Given the description of an element on the screen output the (x, y) to click on. 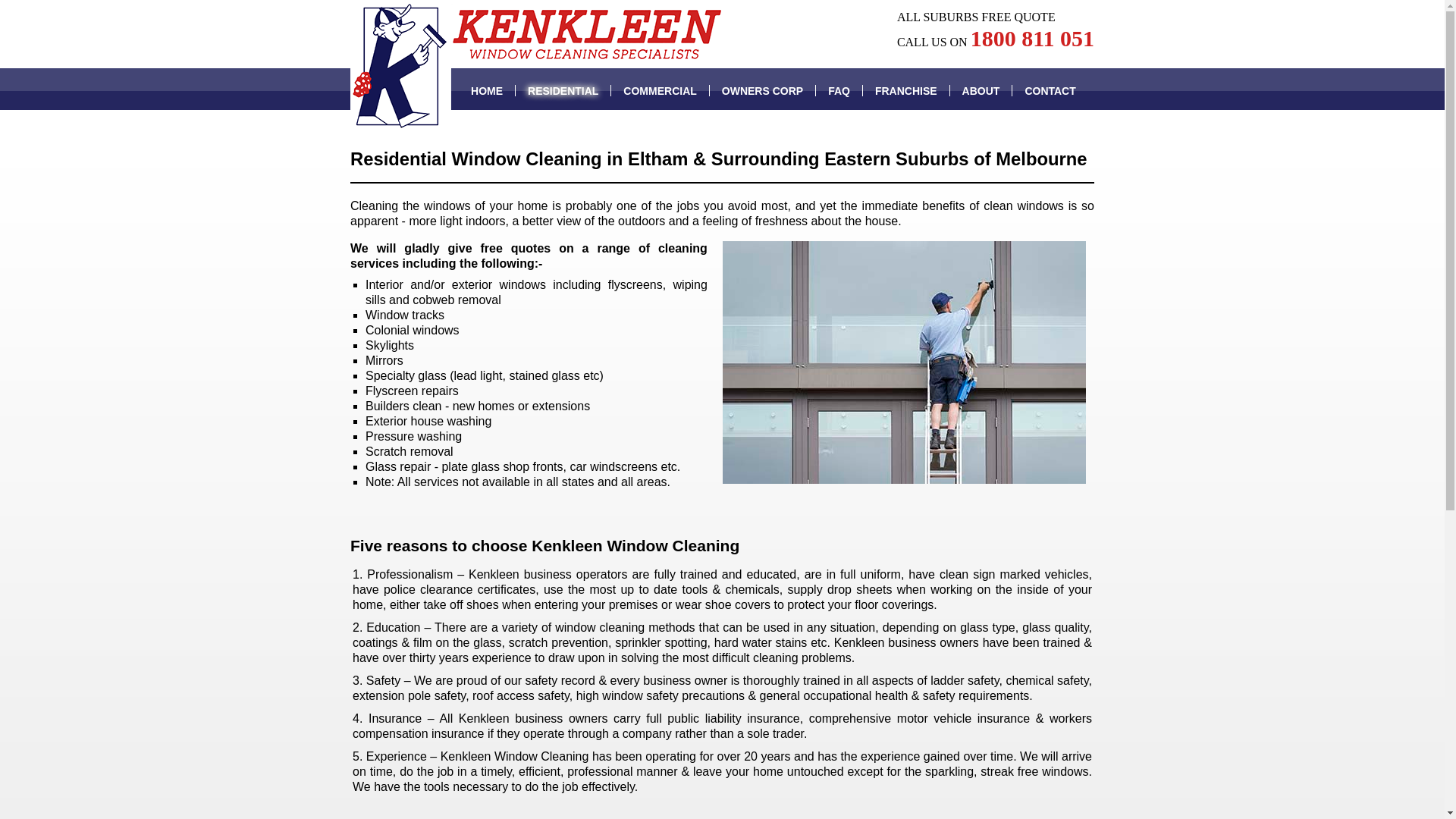
OWNERS CORP Element type: text (762, 90)
1800 811 051 Element type: text (1032, 37)
COMMERCIAL Element type: text (660, 90)
HOME Element type: text (486, 90)
FAQ Element type: text (838, 90)
FRANCHISE Element type: text (906, 90)
CONTACT Element type: text (1043, 90)
ABOUT Element type: text (981, 90)
RESIDENTIAL Element type: text (563, 90)
